Given the description of an element on the screen output the (x, y) to click on. 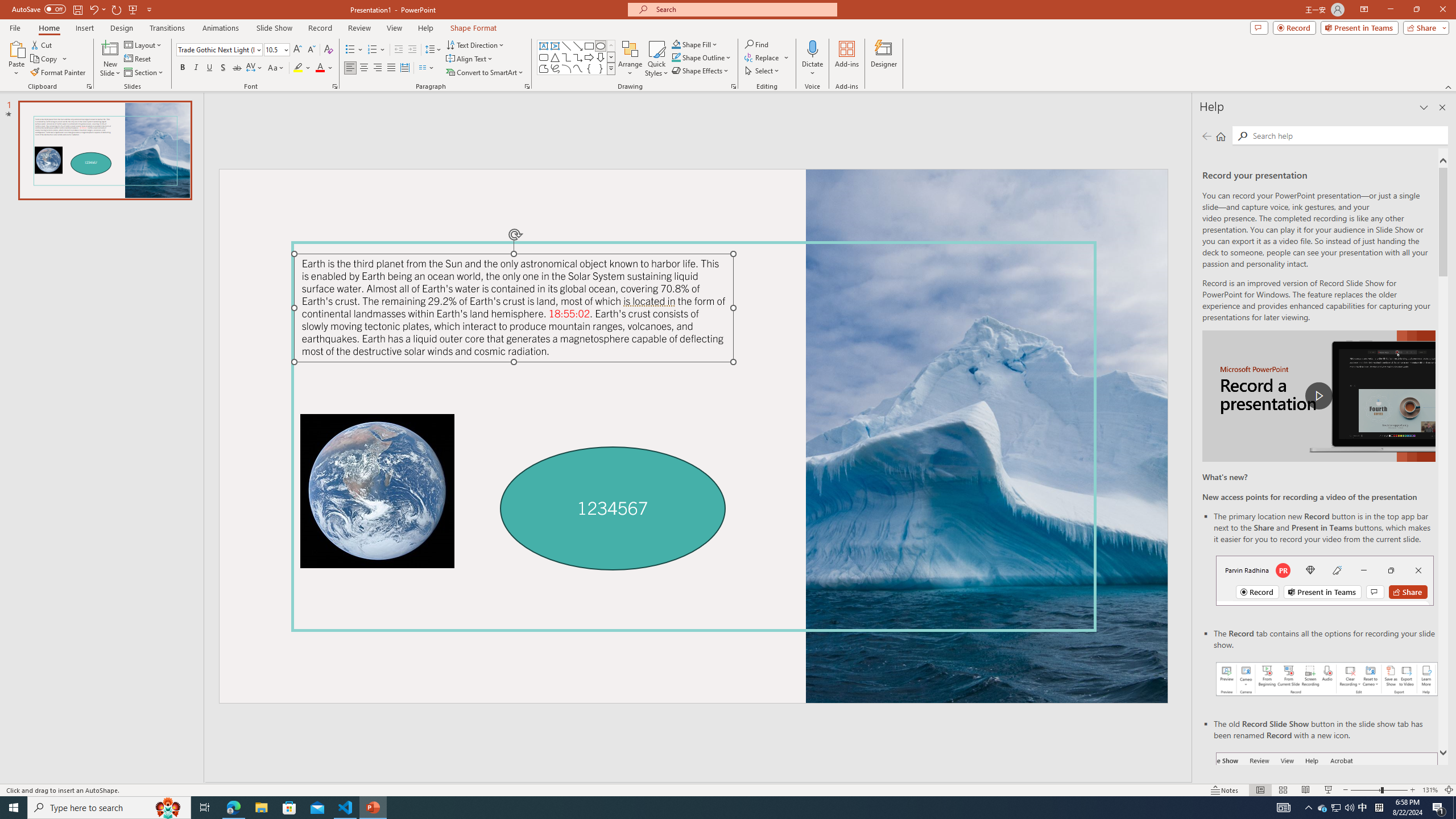
Transitions (167, 28)
Dictate (812, 48)
Curve (577, 68)
Task Pane Options (1423, 107)
Font... (334, 85)
Review (359, 28)
play Record a Presentation (1318, 395)
Justify (390, 67)
Distributed (404, 67)
Font (219, 49)
Home (48, 28)
New Slide (110, 58)
Font Color (324, 67)
Slide Show (1328, 790)
Copy (49, 58)
